Given the description of an element on the screen output the (x, y) to click on. 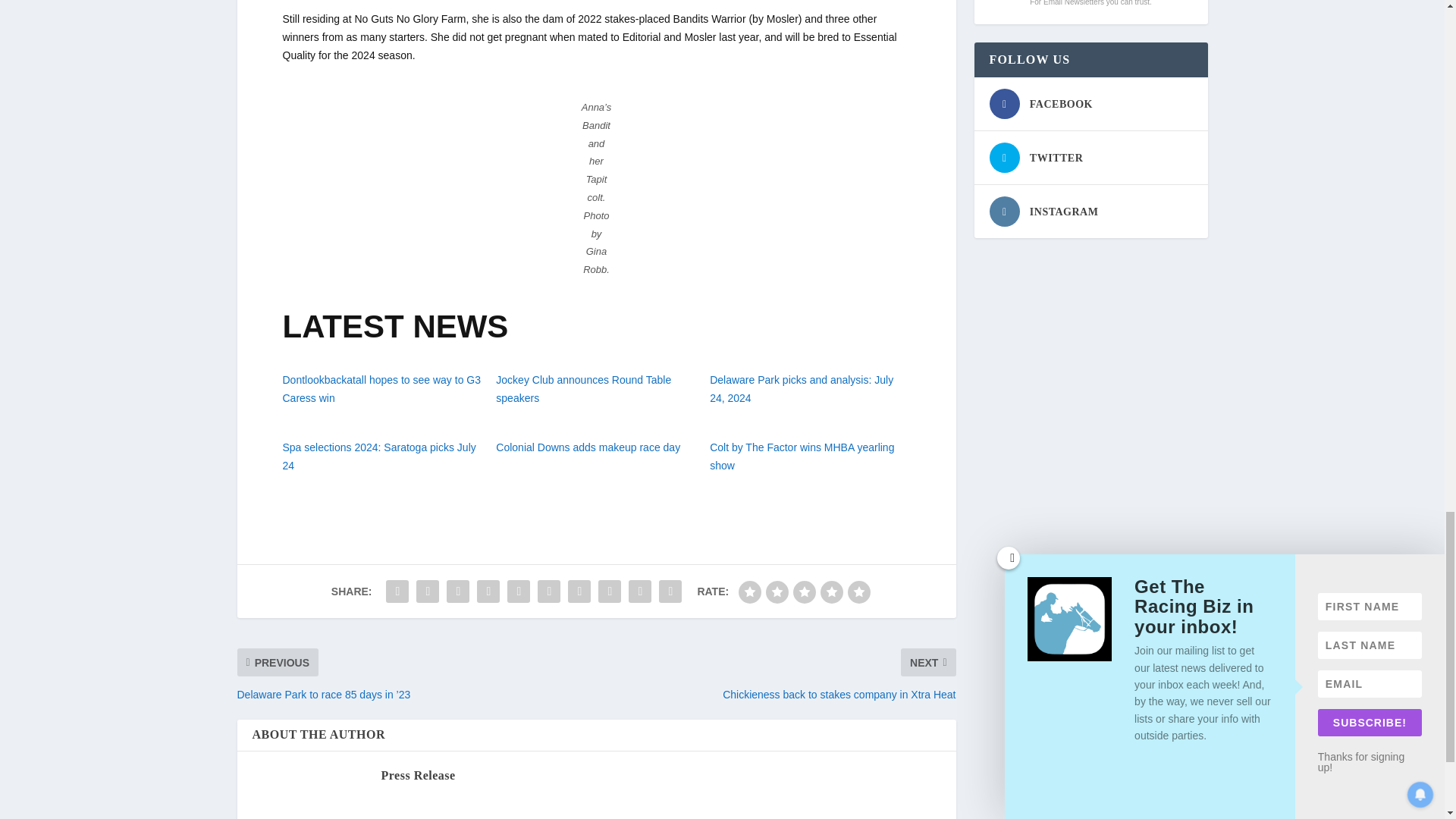
Dontlookbackatall hopes to see way to G3 Caress win (381, 388)
